Given the description of an element on the screen output the (x, y) to click on. 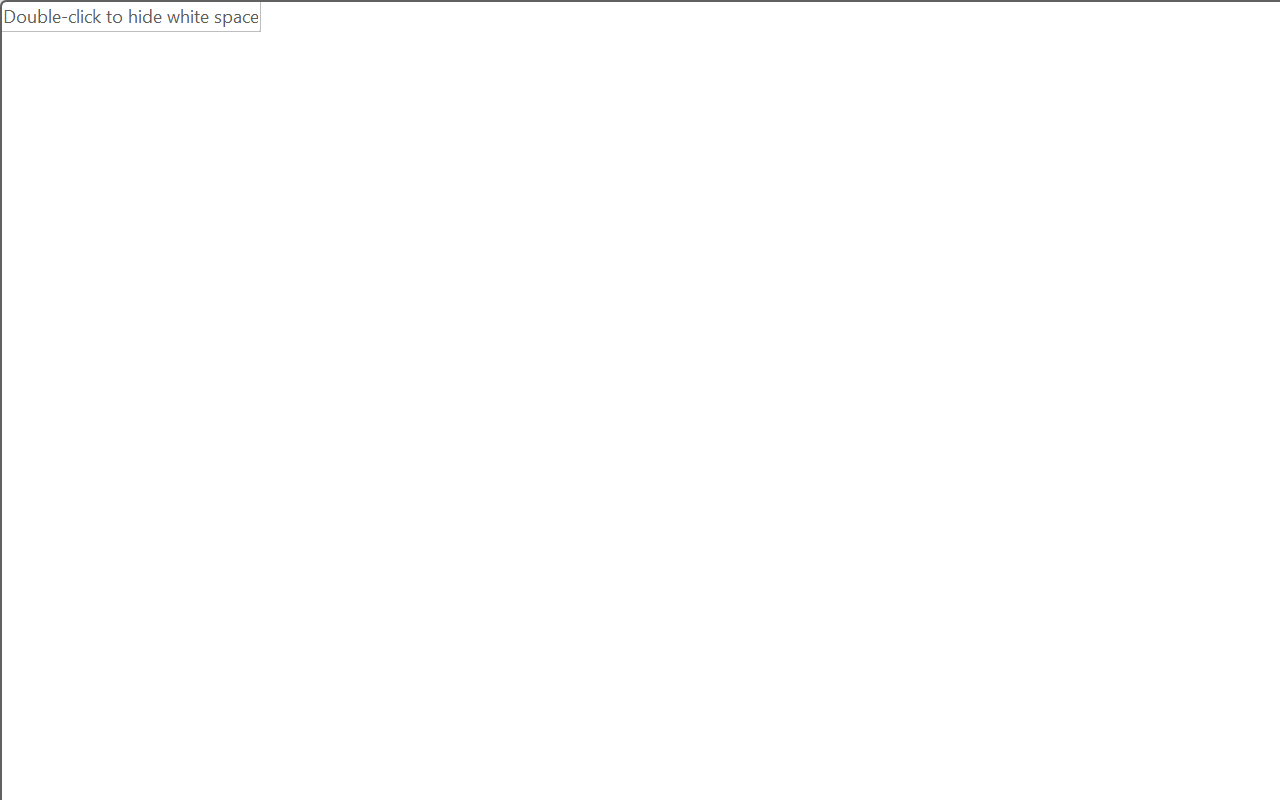
Strikethrough (312, 201)
Sort... (1054, 153)
Text Highlight Color Yellow (495, 201)
Grow Font (430, 153)
Undo Paste Destination Formatting (280, 35)
Line and Paragraph Spacing (927, 201)
